Given the description of an element on the screen output the (x, y) to click on. 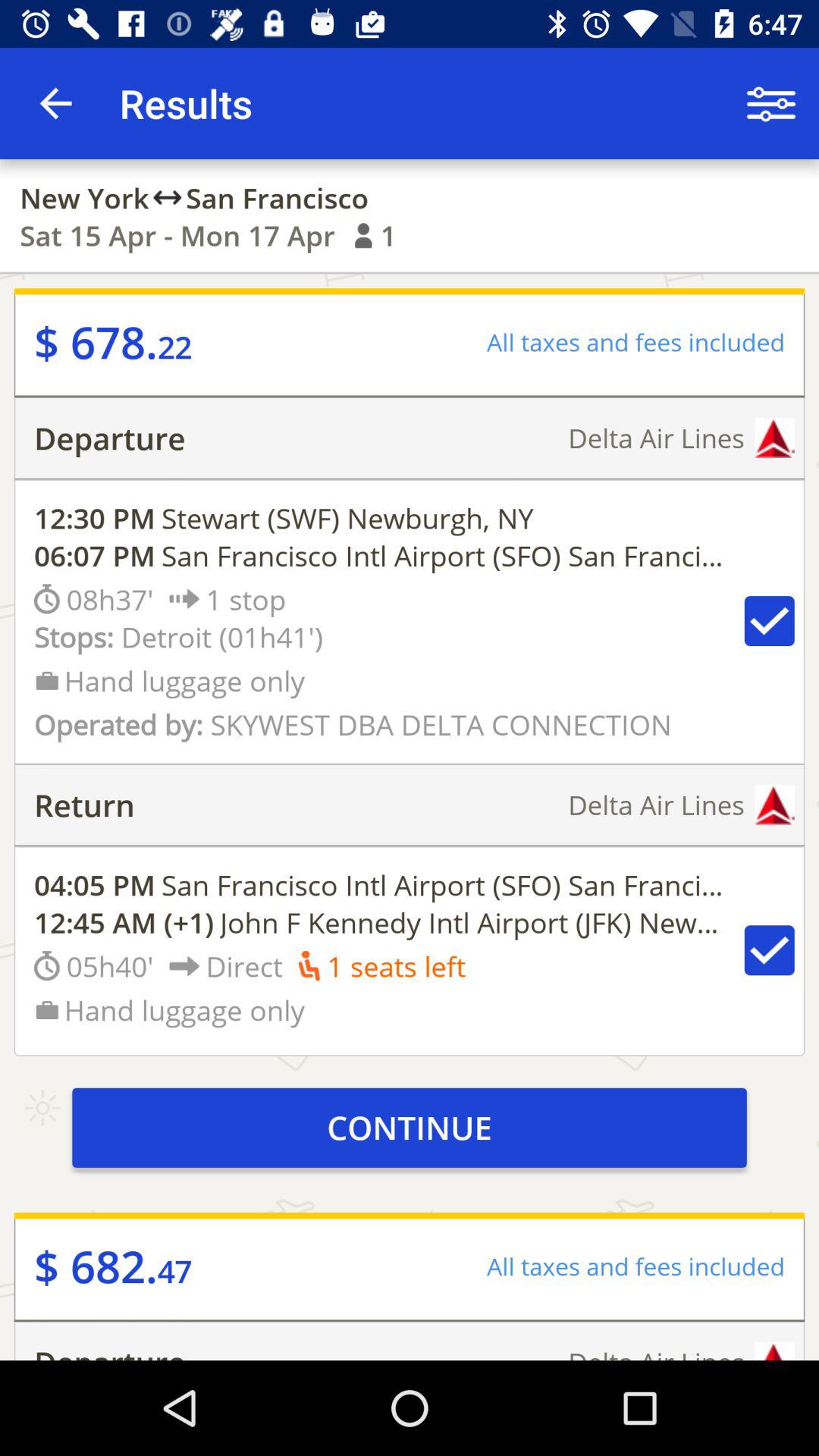
press the app next to the results item (55, 103)
